Given the description of an element on the screen output the (x, y) to click on. 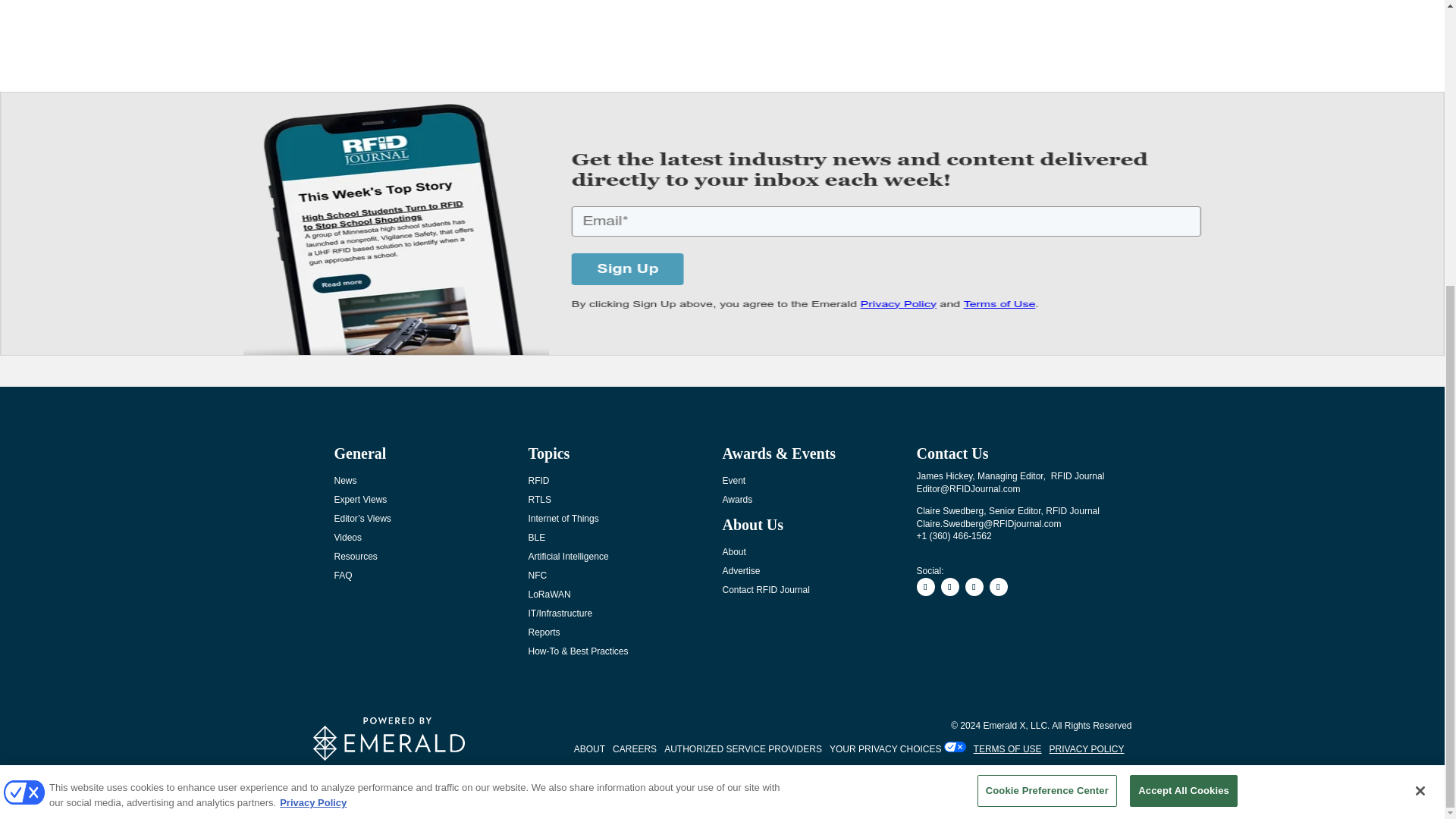
Follow on Facebook (924, 587)
Follow on X (972, 587)
Follow on Youtube (997, 587)
Follow on LinkedIn (949, 587)
